Given the description of an element on the screen output the (x, y) to click on. 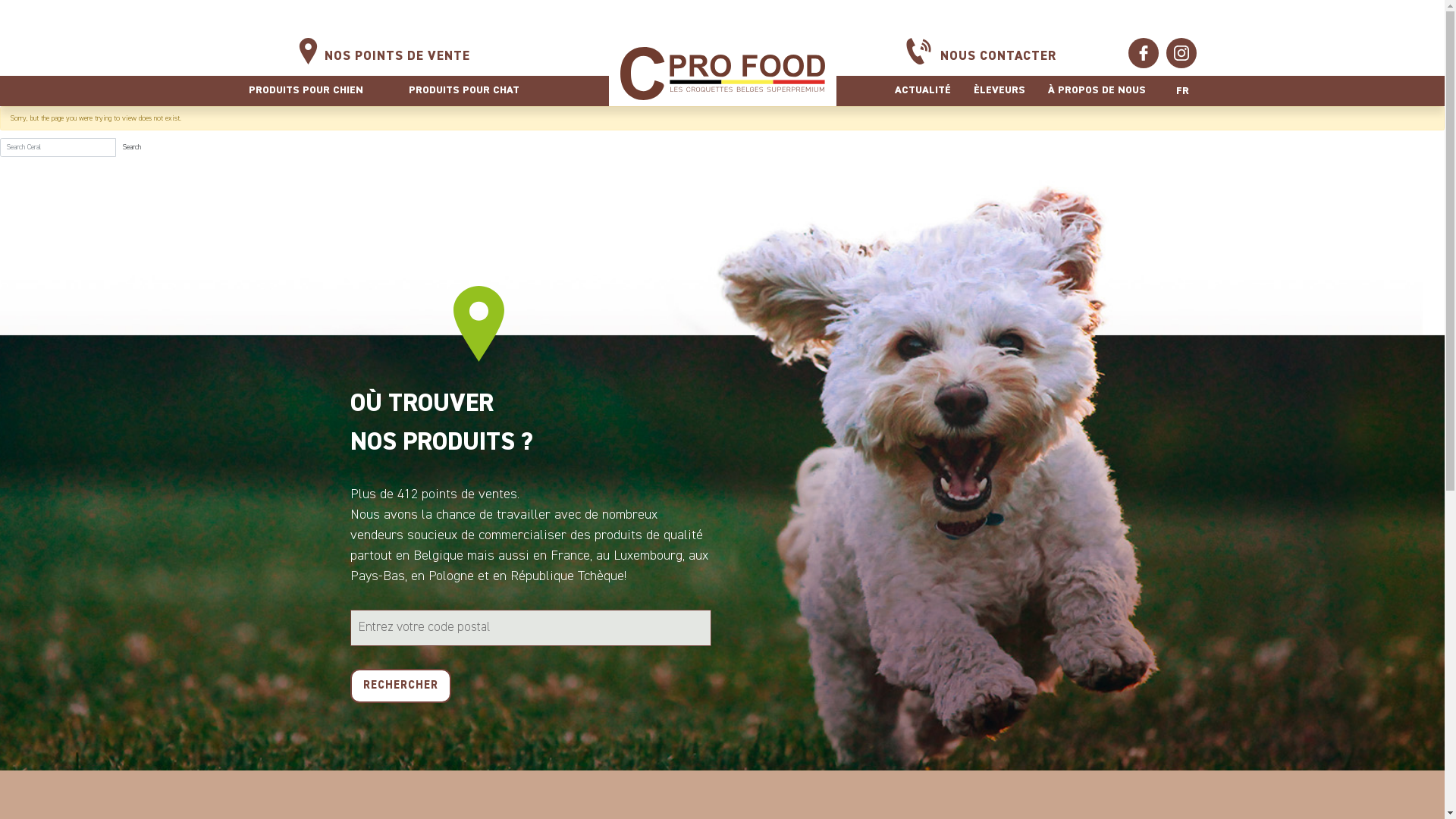
PRODUITS POUR CHIEN Element type: text (305, 90)
Ceral Element type: text (721, 73)
NOUS CONTACTER Element type: text (998, 56)
Rechercher Element type: text (400, 685)
https://www.facebook.com/ceralcprofood Element type: text (1143, 52)
Search Element type: text (131, 147)
NOS POINTS DE VENTE Element type: text (397, 56)
FR Element type: text (1181, 90)
PRODUITS POUR CHAT Element type: text (462, 90)
https://www.instagram.com/cprofood/ Element type: text (1181, 52)
